Given the description of an element on the screen output the (x, y) to click on. 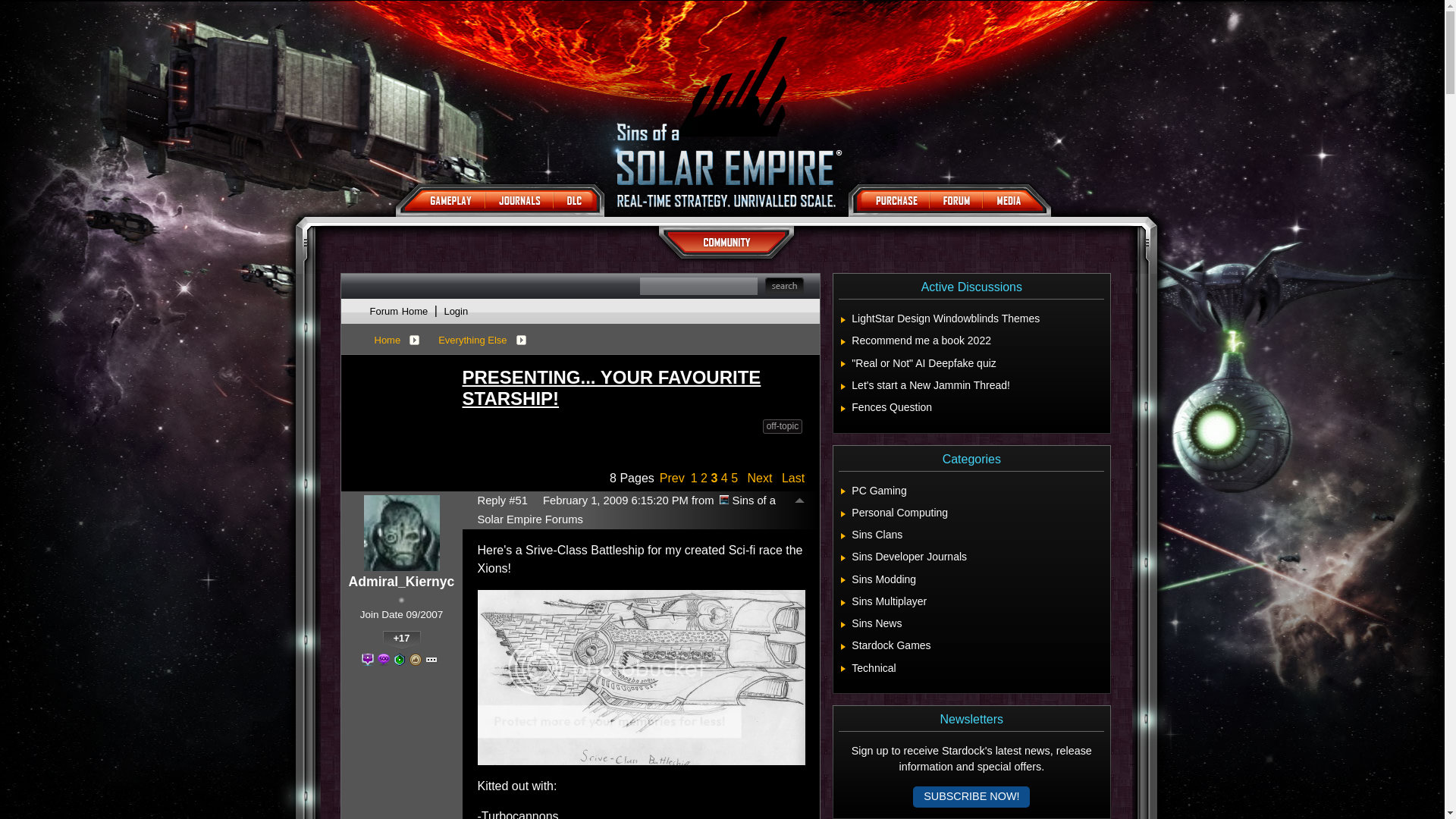
Received 500 clicks from shared links to a single post (367, 659)
Click user name to view more options. (401, 581)
Click to view original post (633, 387)
Rank: 1 (400, 600)
